Given the description of an element on the screen output the (x, y) to click on. 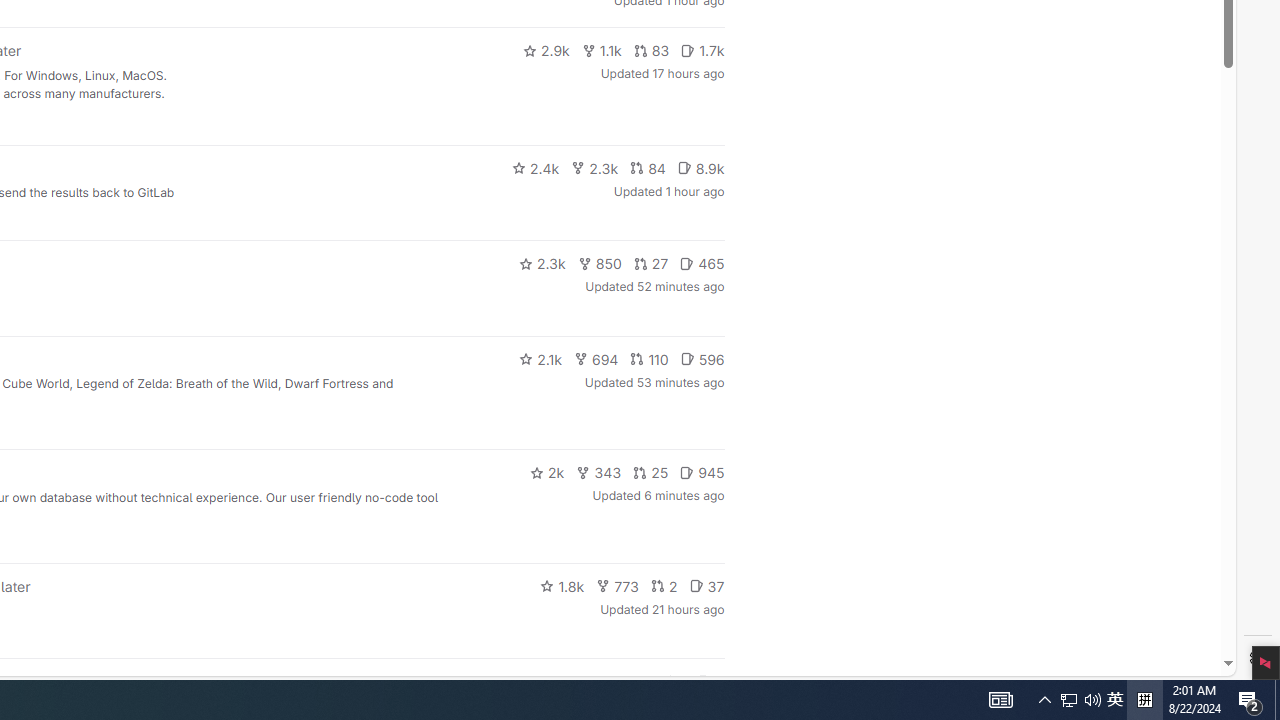
596 (701, 358)
1 (673, 681)
2.4k (535, 167)
1.4k (573, 681)
143 (629, 681)
110 (649, 358)
1.1k (601, 50)
694 (596, 358)
25 (651, 472)
1.7k (702, 50)
84 (647, 167)
945 (701, 472)
2k (546, 472)
2 (664, 585)
